Given the description of an element on the screen output the (x, y) to click on. 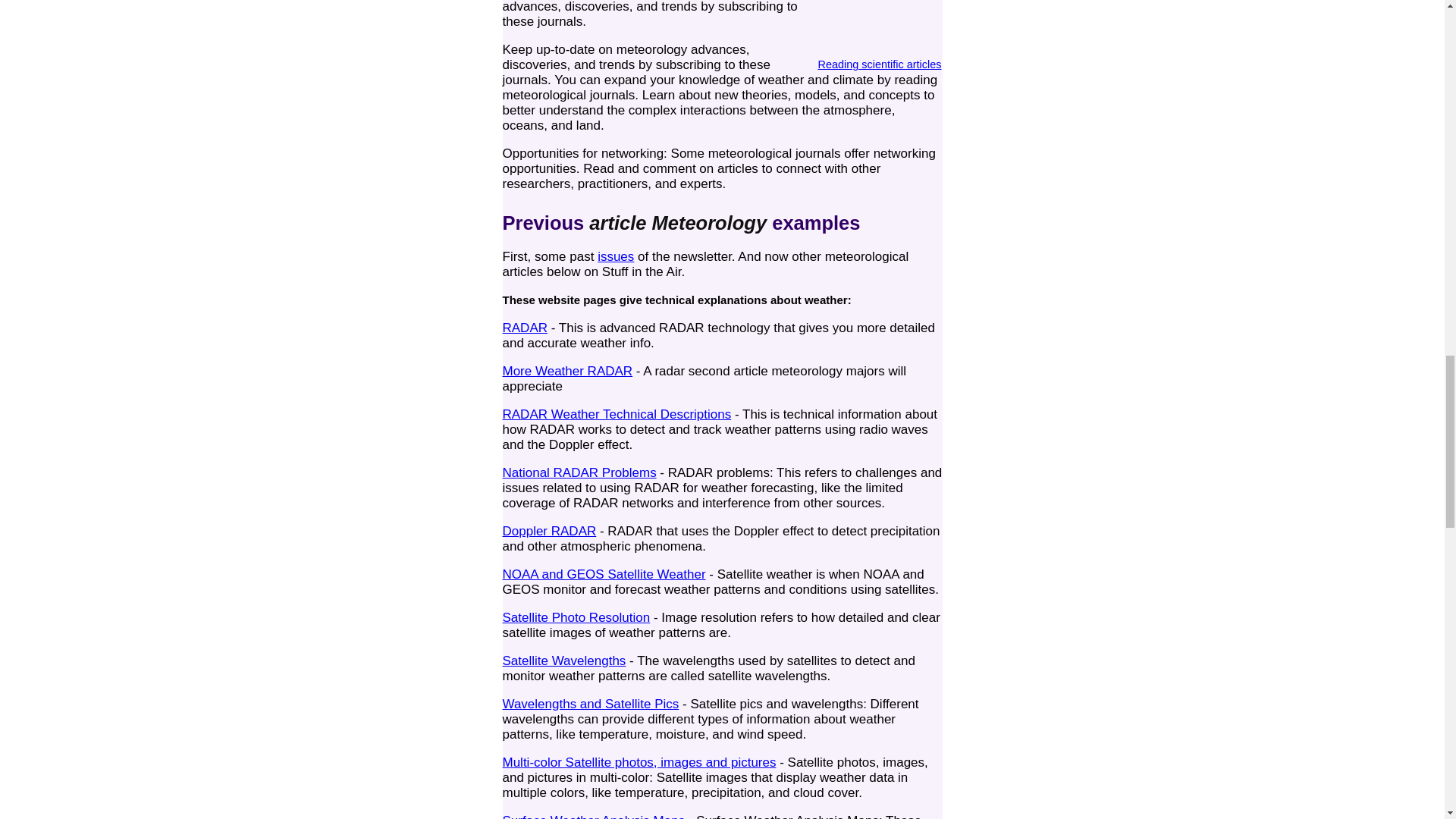
Reading scientific articles (879, 56)
Multi-color Satellite photos, images and pictures (639, 762)
Surface Weather Analysis Maps (593, 816)
National RADAR Problems (579, 472)
issues (614, 256)
newspaper articles (879, 27)
RADAR Weather Technical Descriptions (616, 414)
RADAR (524, 327)
Satellite Photo Resolution (575, 617)
NOAA and GEOS Satellite Weather (603, 574)
